Given the description of an element on the screen output the (x, y) to click on. 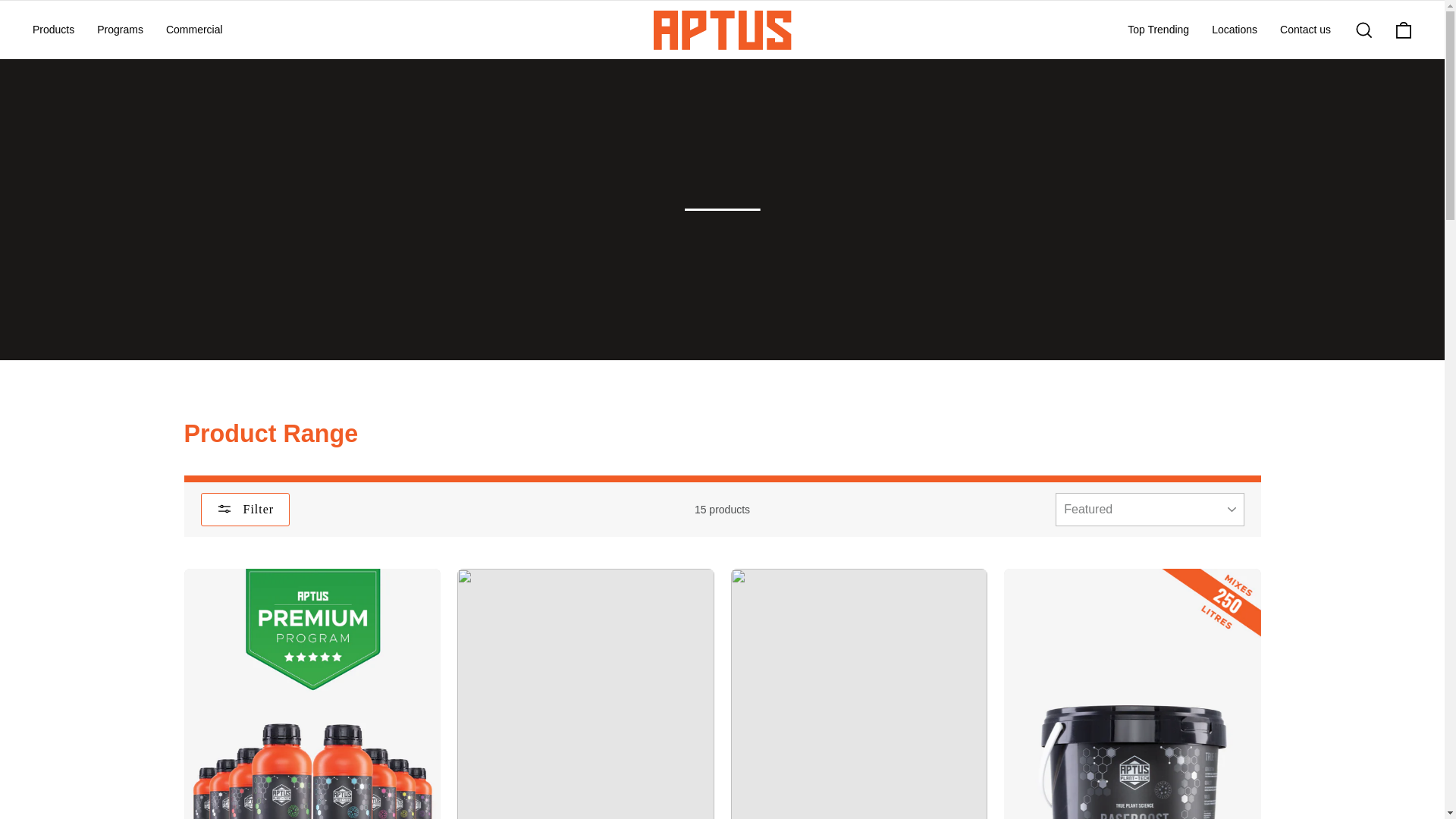
Contact us (1305, 29)
Filter (244, 509)
Search (1363, 29)
Cart (1403, 29)
Top Trending (1157, 29)
Products (53, 29)
Programs (119, 29)
Locations (1233, 29)
Commercial (194, 29)
